Given the description of an element on the screen output the (x, y) to click on. 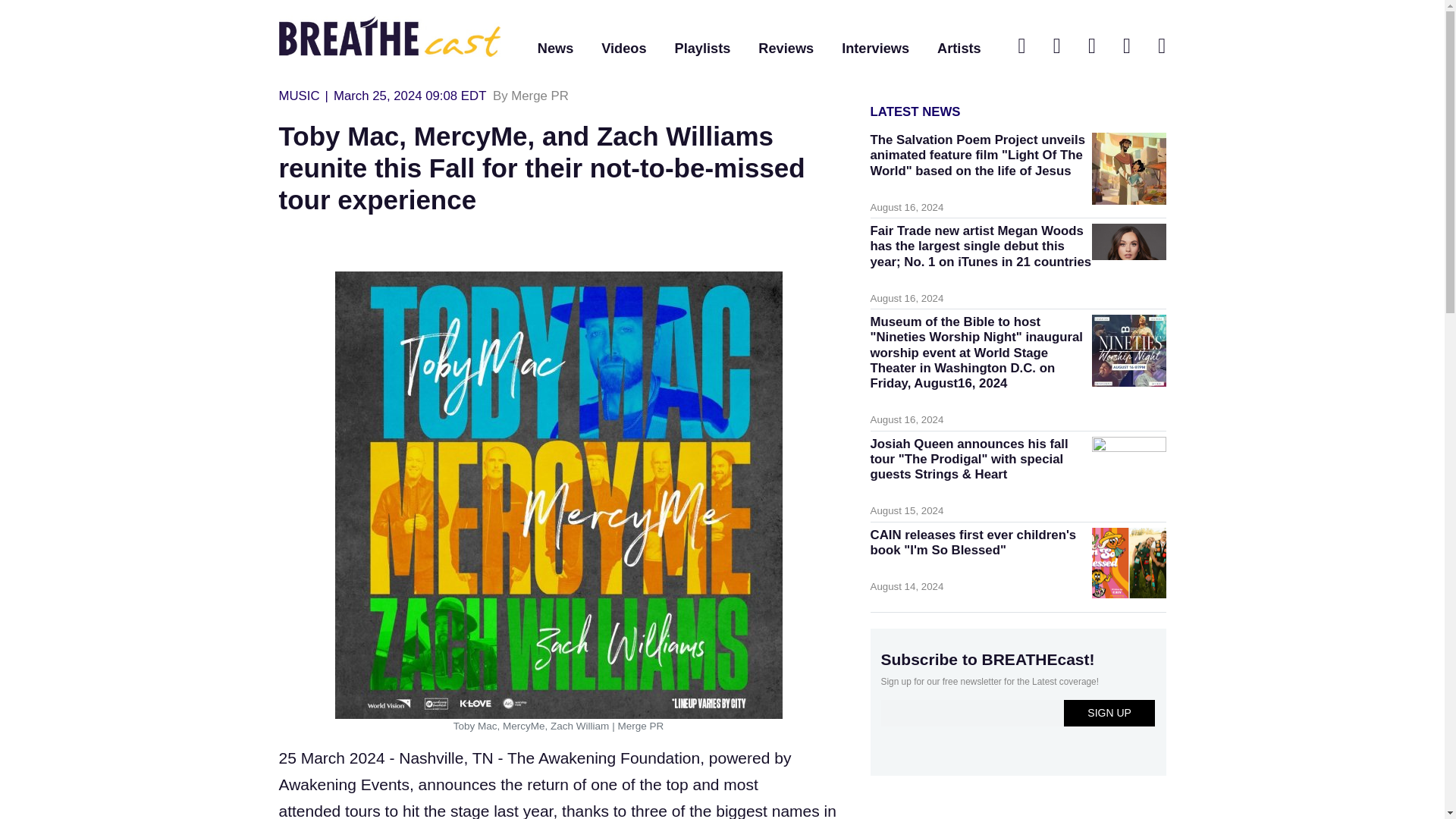
Interviews (874, 48)
Videos (623, 48)
News (555, 48)
Artists (959, 48)
SIGN UP (1110, 713)
Playlists (702, 48)
Reviews (785, 48)
